Given the description of an element on the screen output the (x, y) to click on. 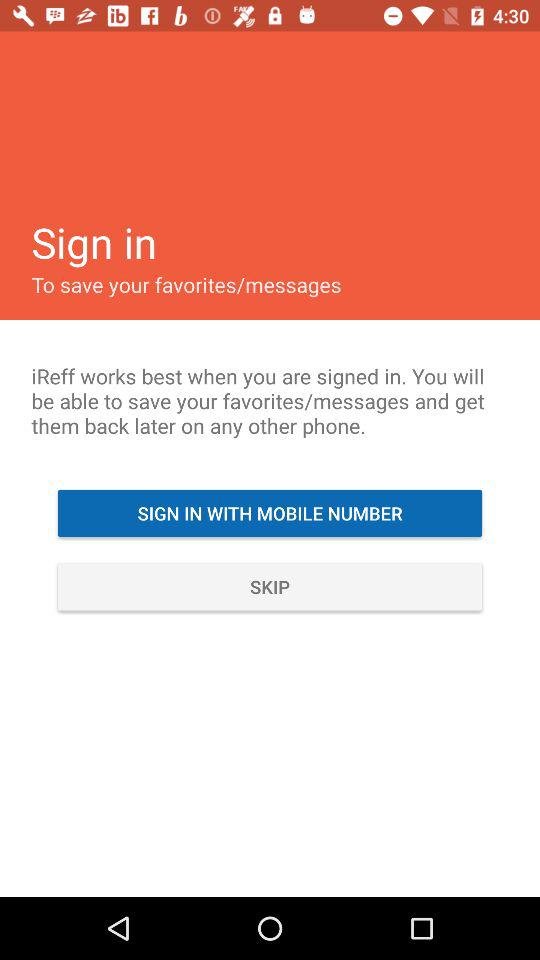
select skip item (269, 586)
